Given the description of an element on the screen output the (x, y) to click on. 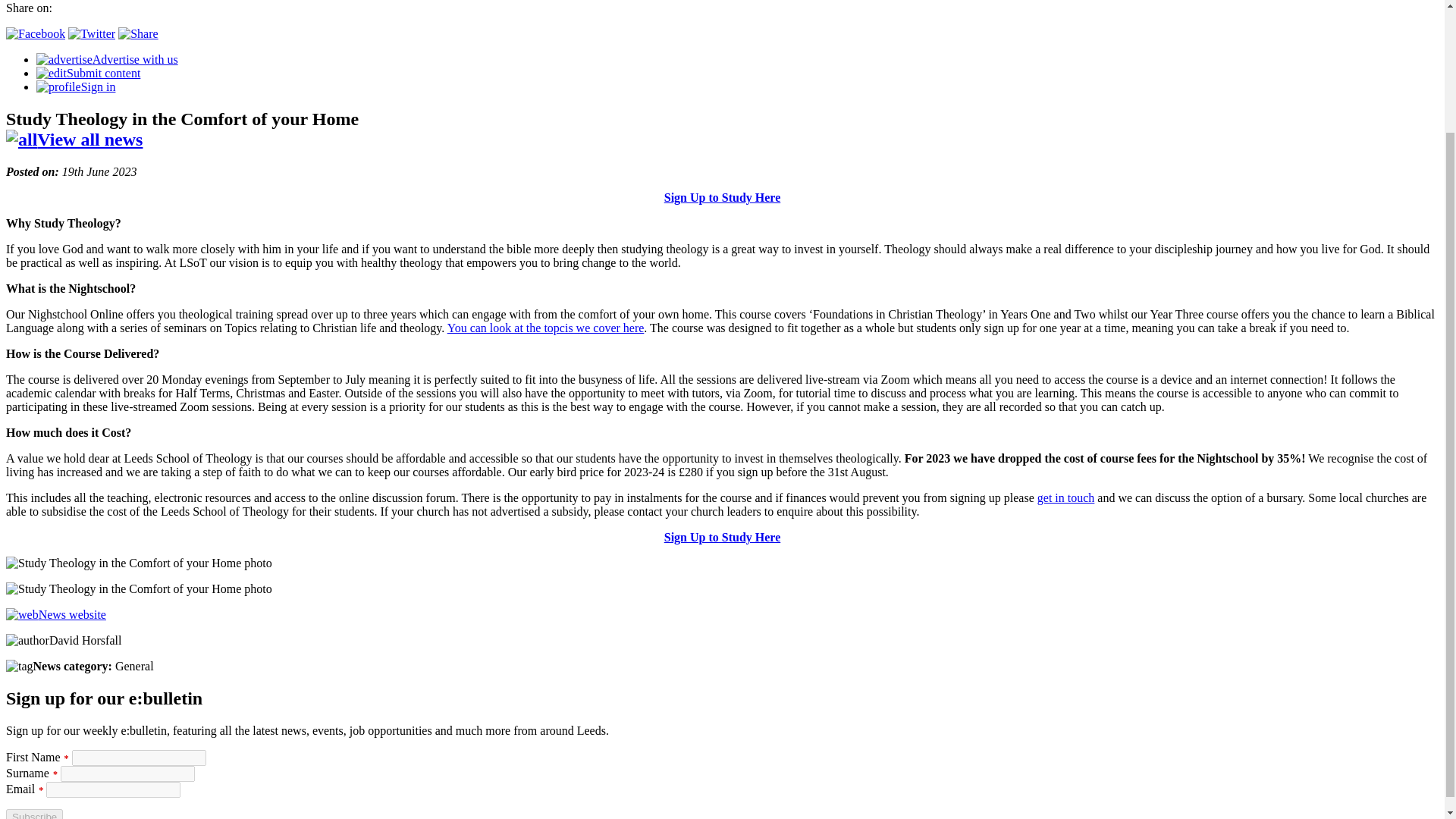
You can look at the topcis we cover here (545, 327)
Sign in (75, 86)
Submit content (87, 72)
News website (55, 614)
Advertise with us (106, 59)
Sign Up to Study Here (721, 536)
Sign Up to Study Here (721, 196)
View all news (73, 139)
get in touch (1065, 497)
